Given the description of an element on the screen output the (x, y) to click on. 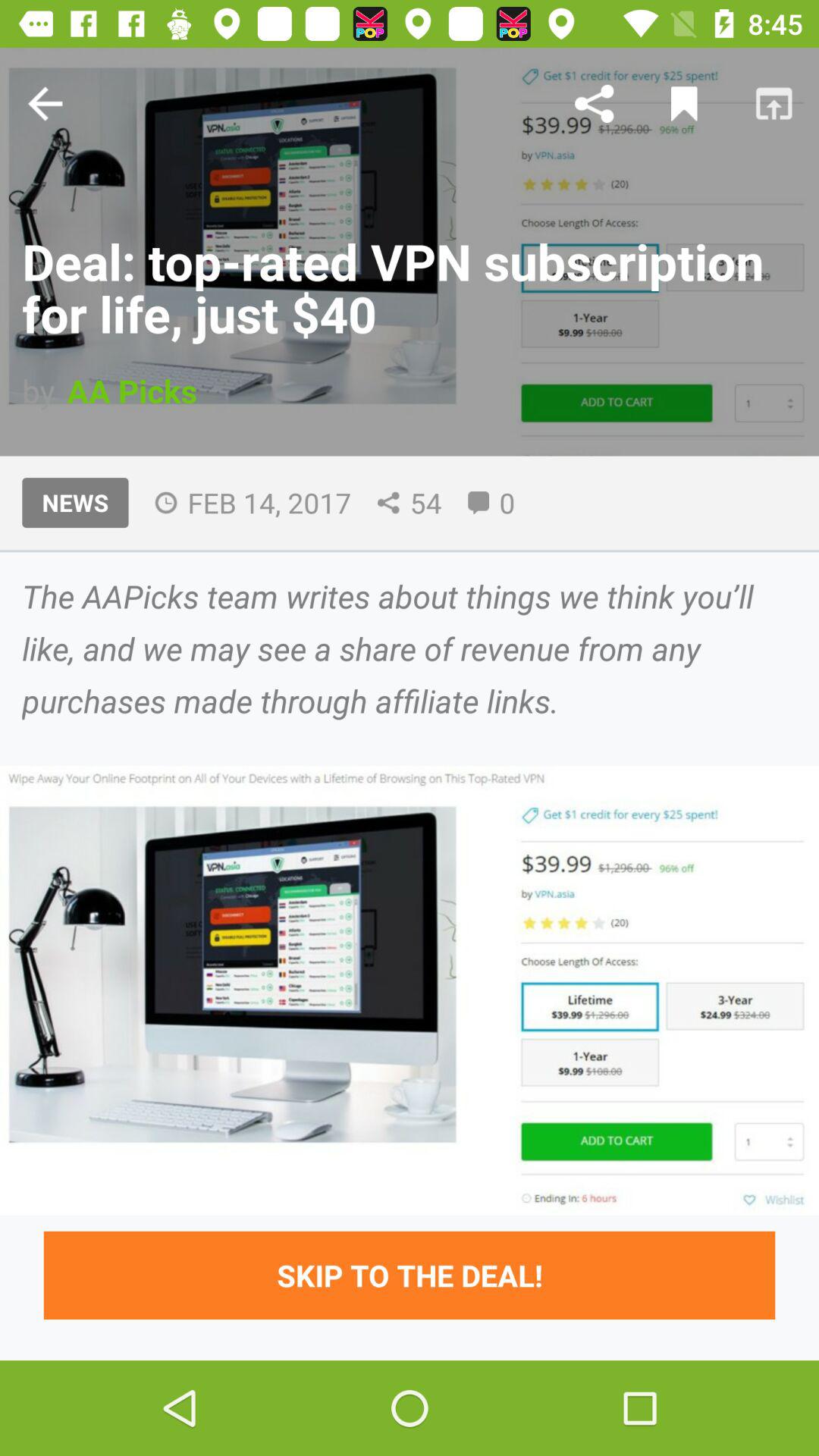
launch app above the deal top rated item (44, 103)
